Given the description of an element on the screen output the (x, y) to click on. 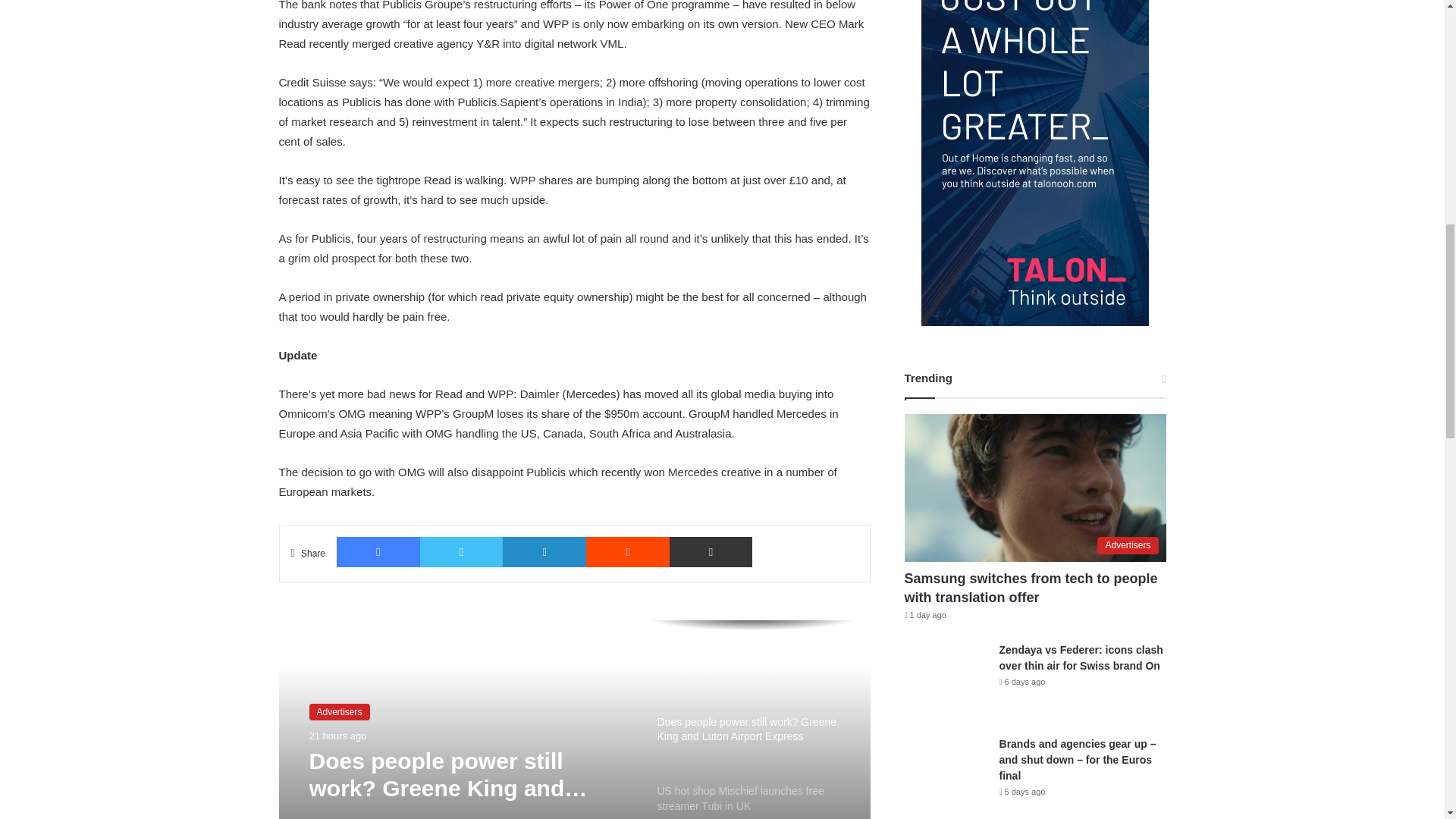
LinkedIn (544, 552)
Share via Email (710, 552)
Twitter (461, 552)
Share via Email (710, 552)
Reddit (627, 552)
Facebook (378, 552)
LinkedIn (544, 552)
Reddit (627, 552)
Twitter (461, 552)
Facebook (378, 552)
